Given the description of an element on the screen output the (x, y) to click on. 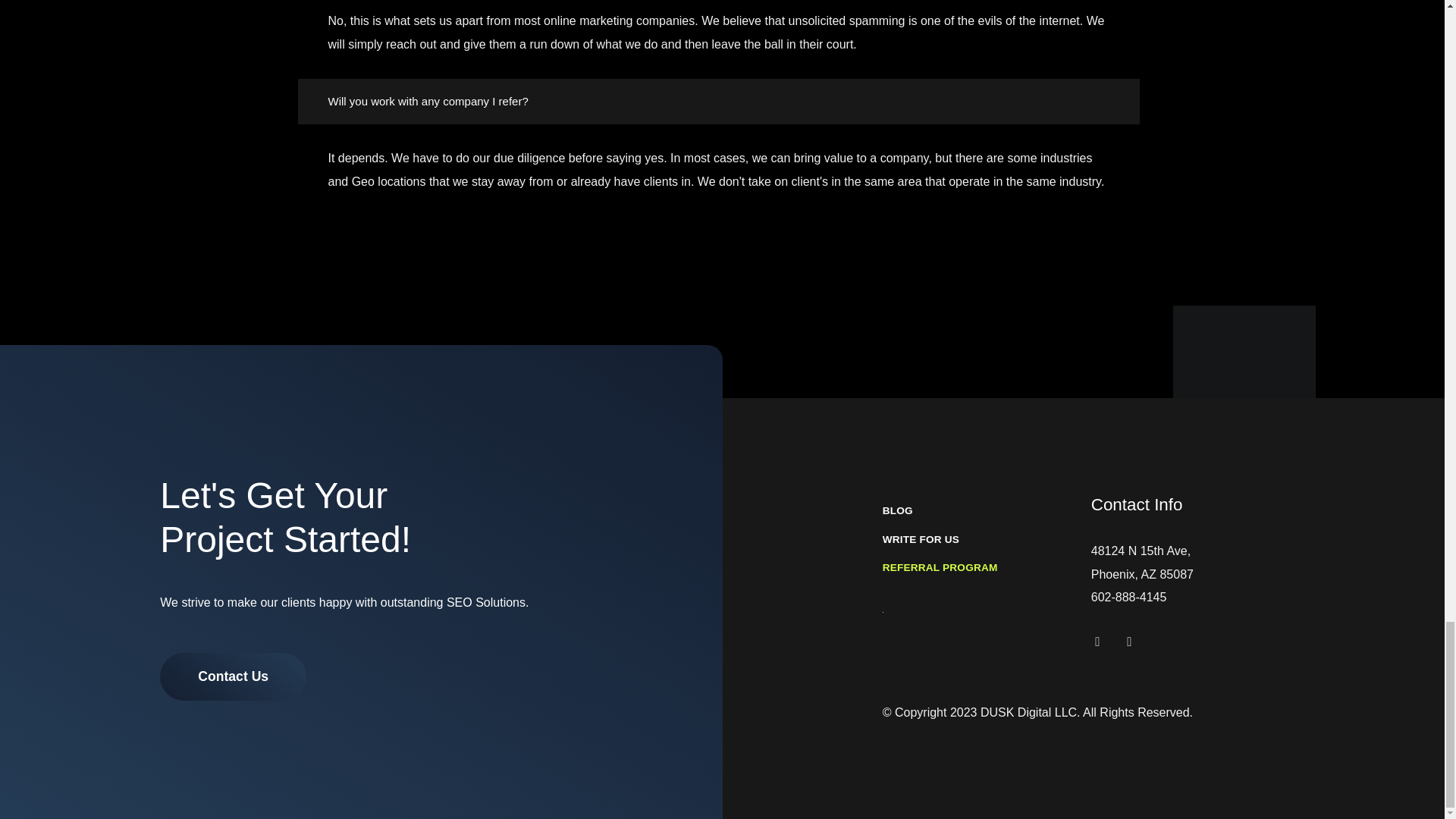
REFERRAL PROGRAM (978, 567)
Contact Us (232, 676)
WRITE FOR US (978, 539)
BLOG (978, 510)
